Given the description of an element on the screen output the (x, y) to click on. 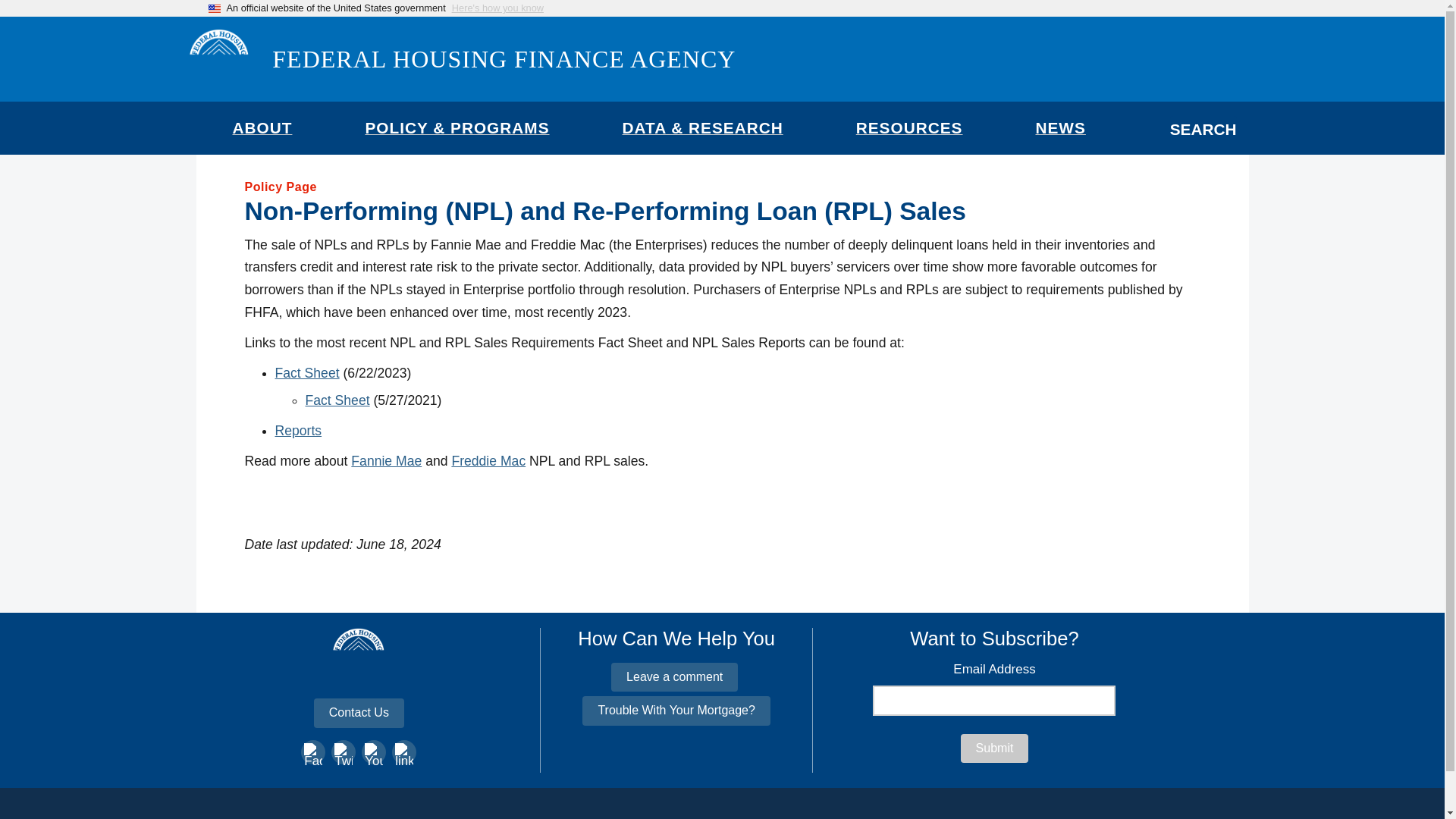
Fannie Mae (386, 460)
Reports (298, 430)
Link goes to an external web page. (386, 460)
RESOURCES (909, 134)
Accessibility (530, 818)
Fact Sheet (336, 400)
Submit (994, 747)
ABOUT (261, 134)
